Given the description of an element on the screen output the (x, y) to click on. 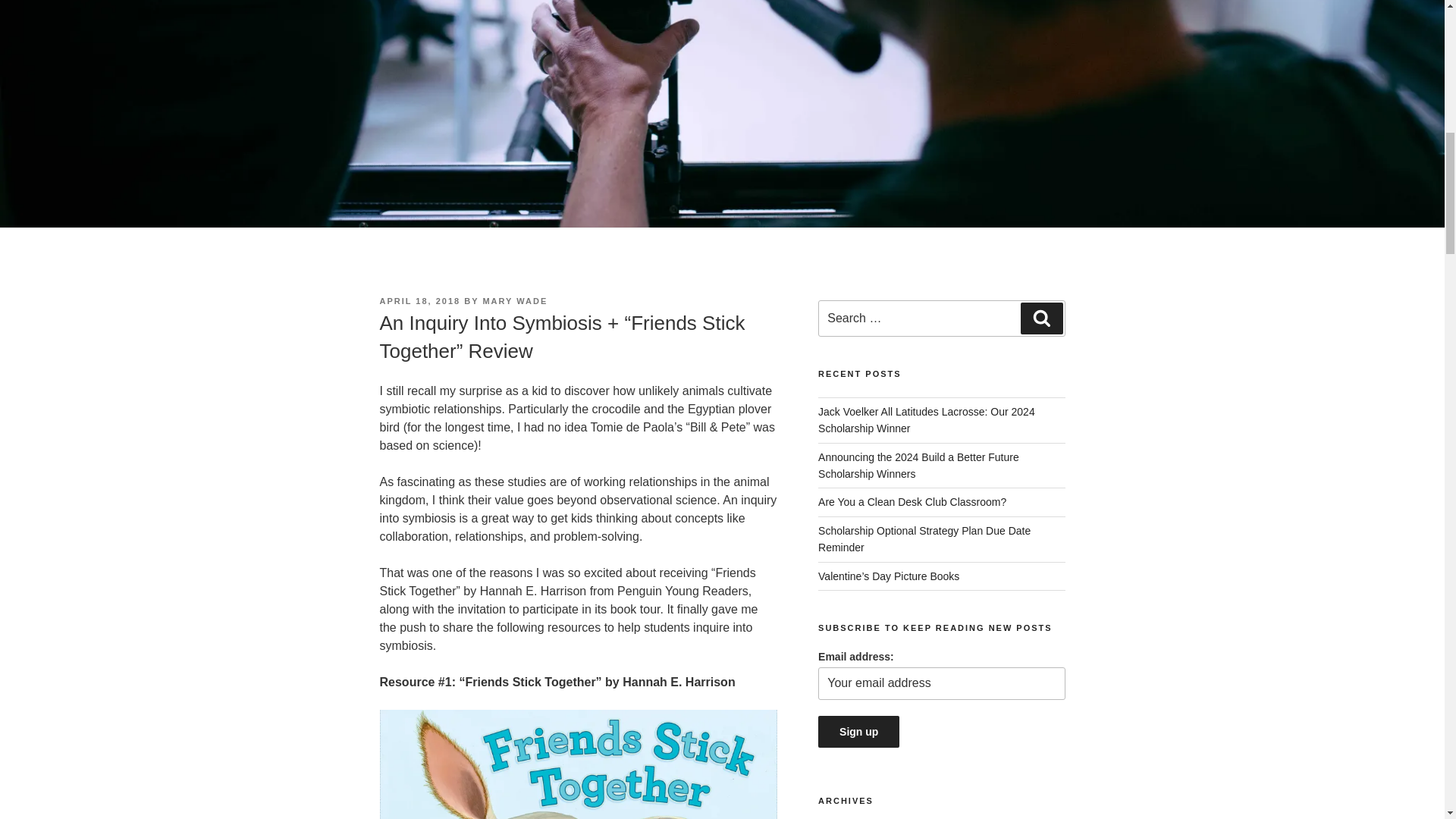
MARY WADE (514, 300)
APRIL 18, 2018 (419, 300)
Sign up (858, 731)
